Given the description of an element on the screen output the (x, y) to click on. 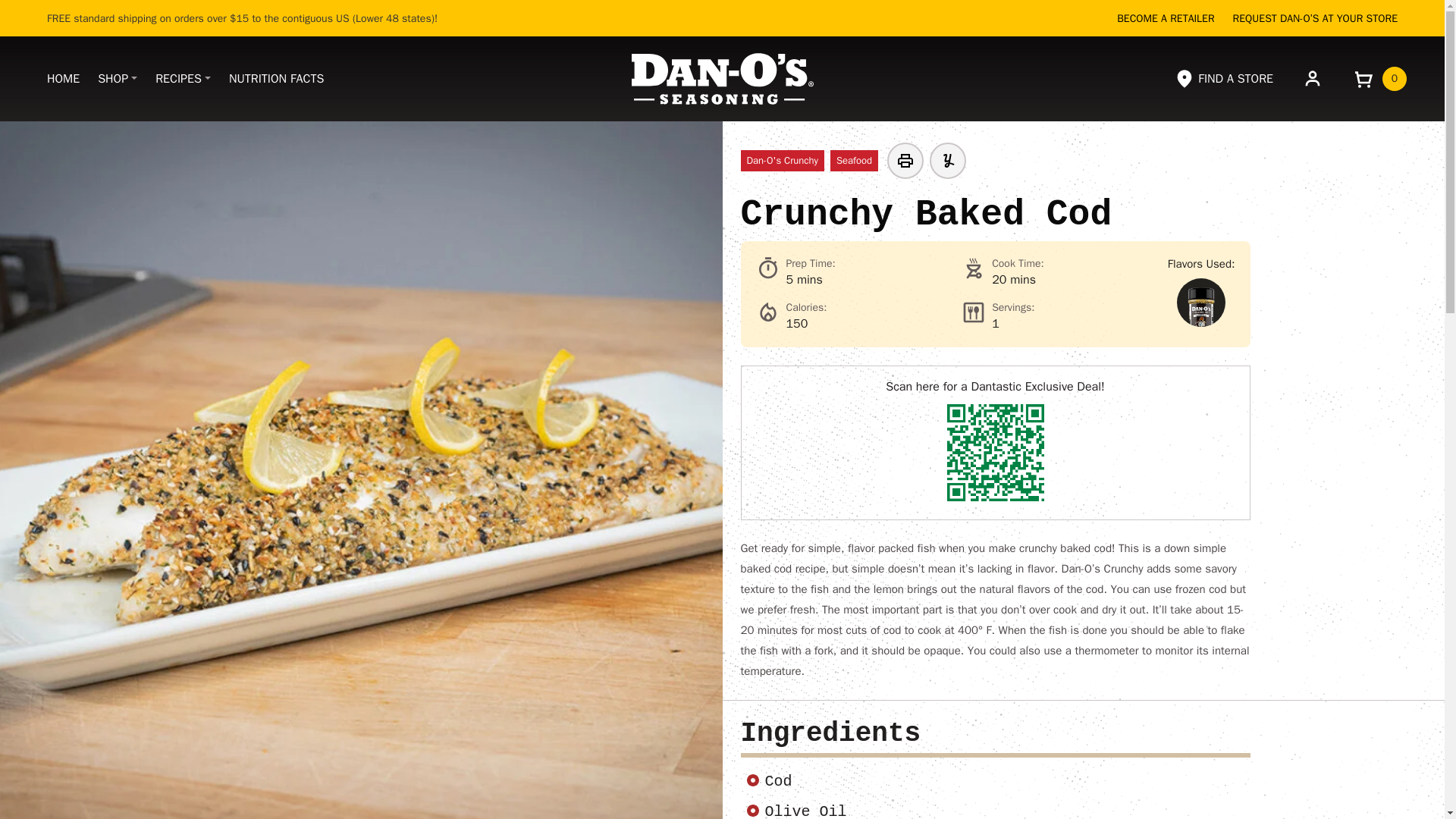
0 (1379, 78)
Crunchy (1200, 302)
BECOME A RETAILER (1165, 18)
Print (904, 160)
NUTRITION FACTS (276, 78)
Add to Yummly (948, 160)
HOME (62, 78)
RECIPES (183, 78)
Seafood (853, 160)
Find a store (1222, 78)
Account (1312, 78)
SHOP (117, 78)
FIND A STORE (1222, 78)
Dan-O's Crunchy (781, 160)
View your cart (1379, 78)
